Given the description of an element on the screen output the (x, y) to click on. 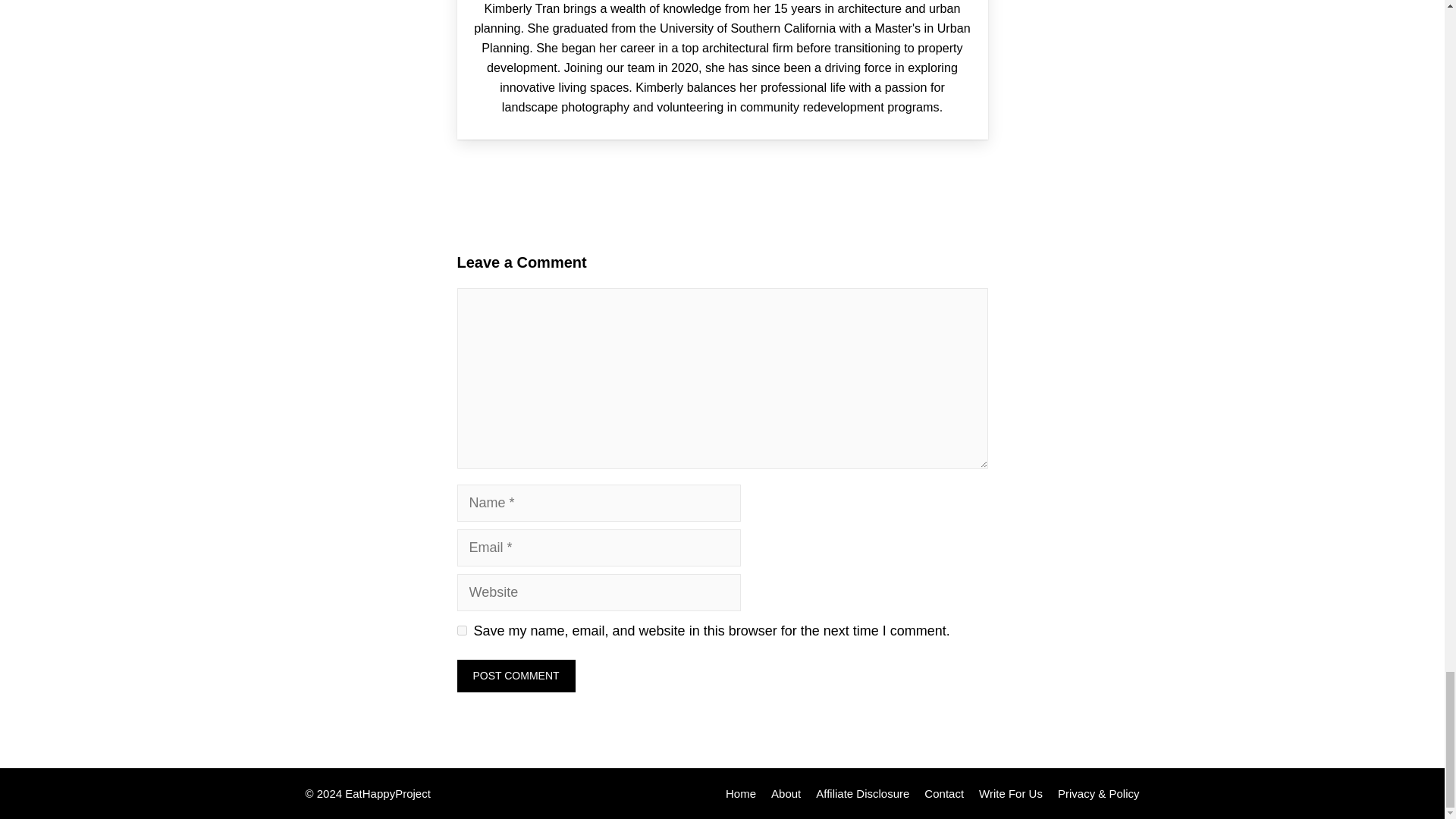
yes (461, 630)
Post Comment (516, 676)
